Given the description of an element on the screen output the (x, y) to click on. 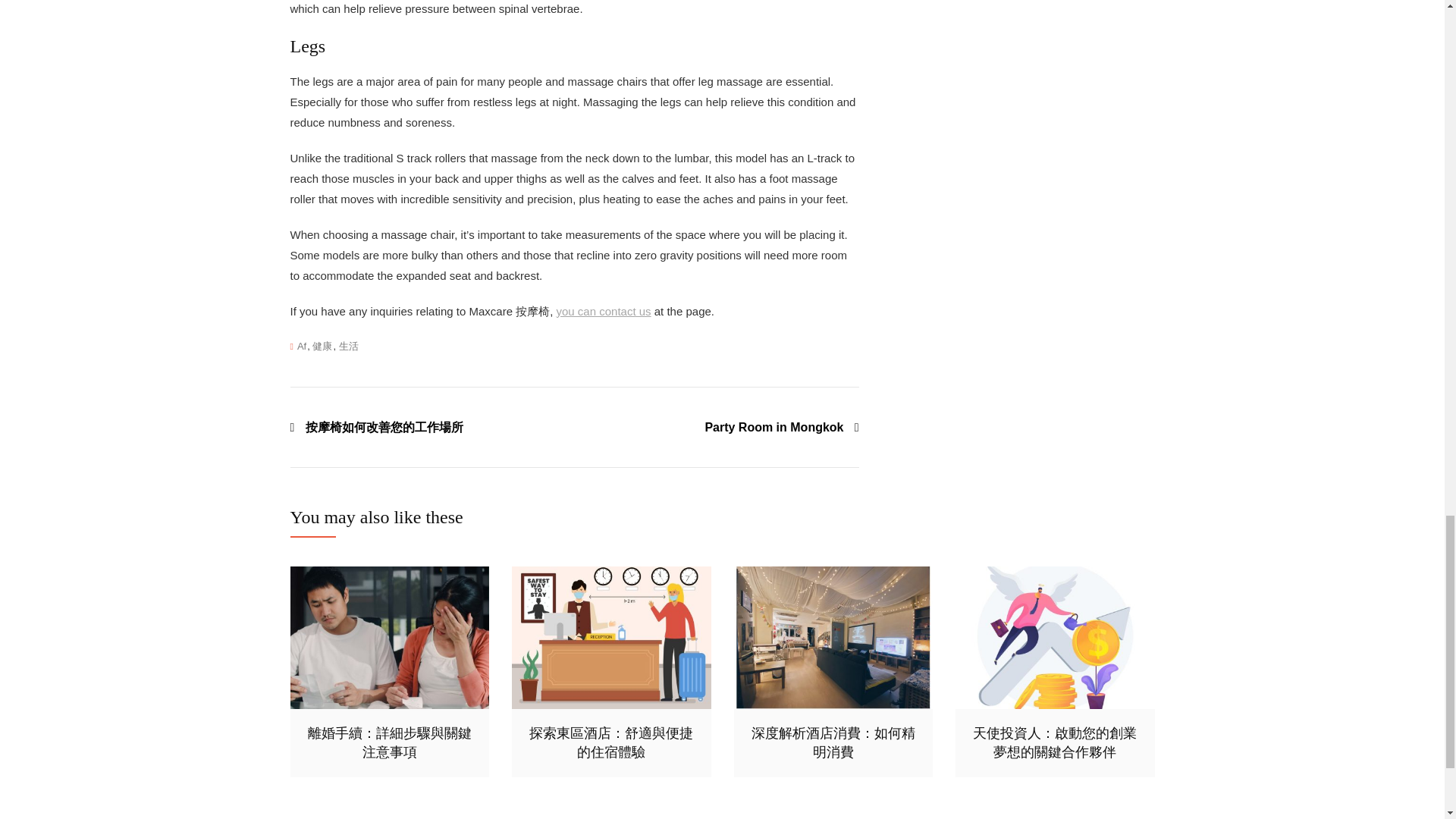
you can contact us (603, 310)
